Given the description of an element on the screen output the (x, y) to click on. 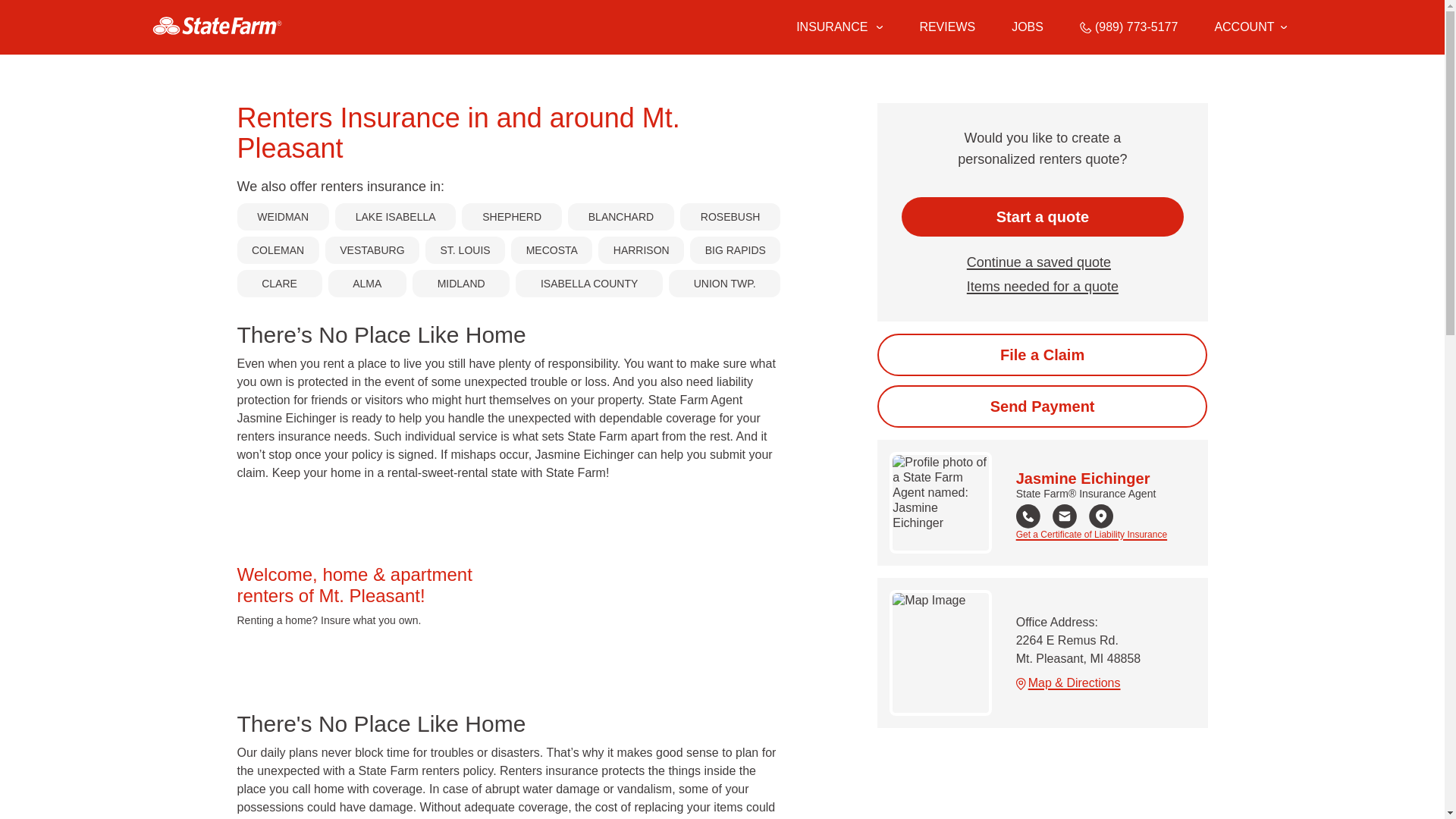
Account Options (1250, 27)
Insurance (839, 27)
ACCOUNT (1250, 27)
INSURANCE (830, 27)
Start the claim process online (1042, 354)
JOBS (1027, 27)
REVIEWS (946, 27)
